Given the description of an element on the screen output the (x, y) to click on. 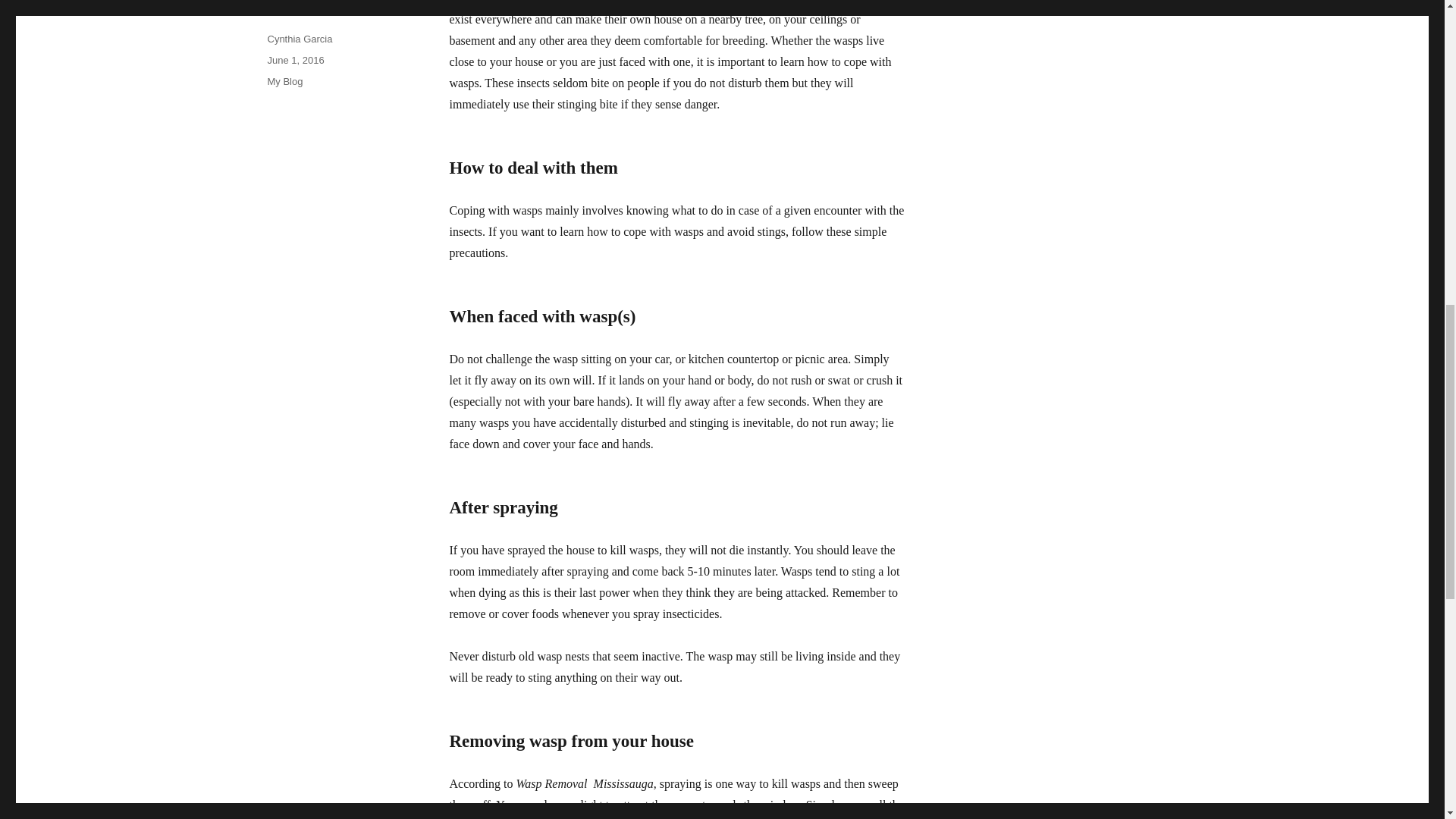
Cynthia Garcia (298, 39)
June 1, 2016 (294, 60)
My Blog (284, 81)
